Given the description of an element on the screen output the (x, y) to click on. 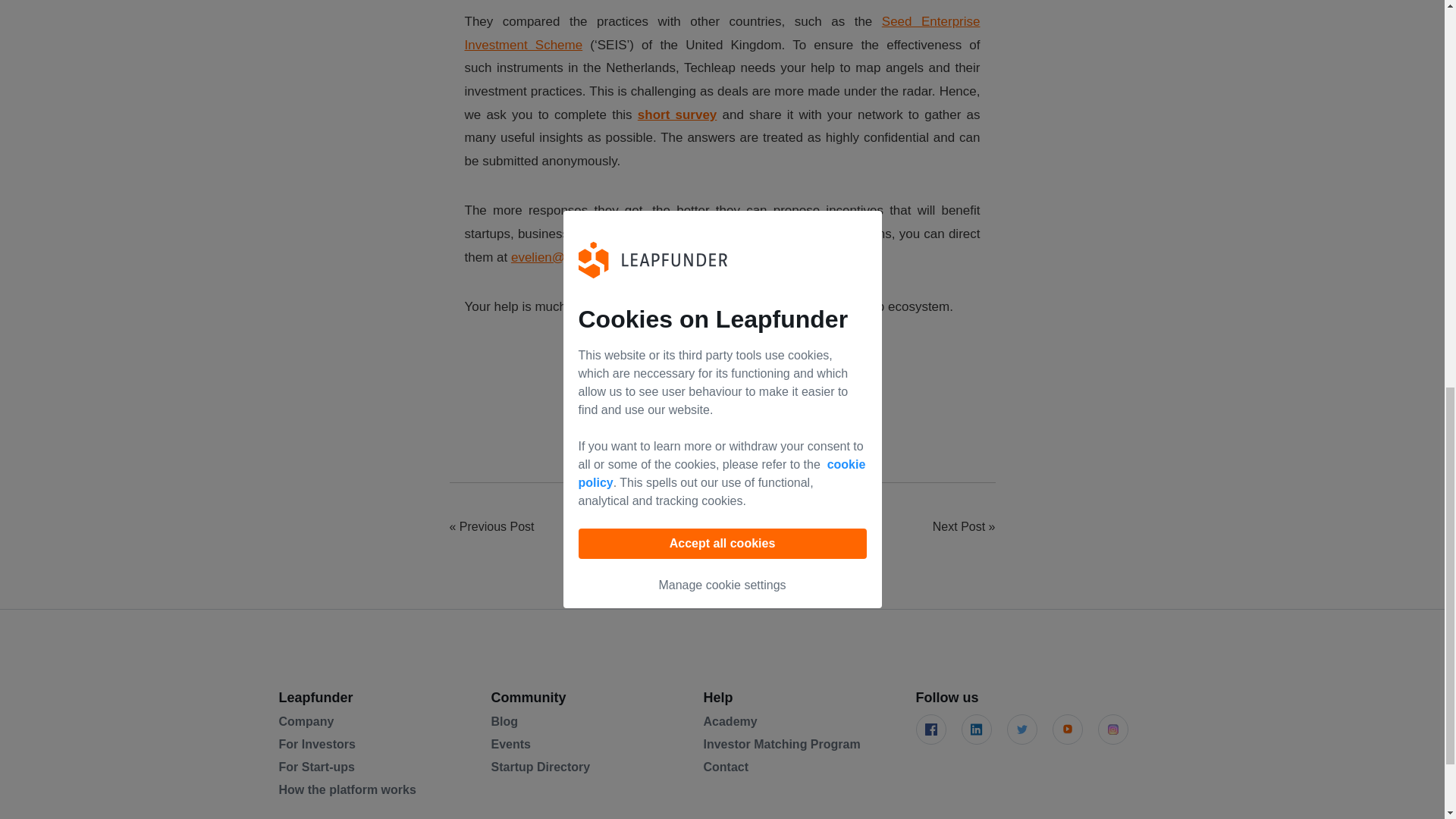
short survey (677, 114)
Seed Enterprise Investment Scheme (721, 33)
Company (306, 721)
For Investors (317, 744)
